Given the description of an element on the screen output the (x, y) to click on. 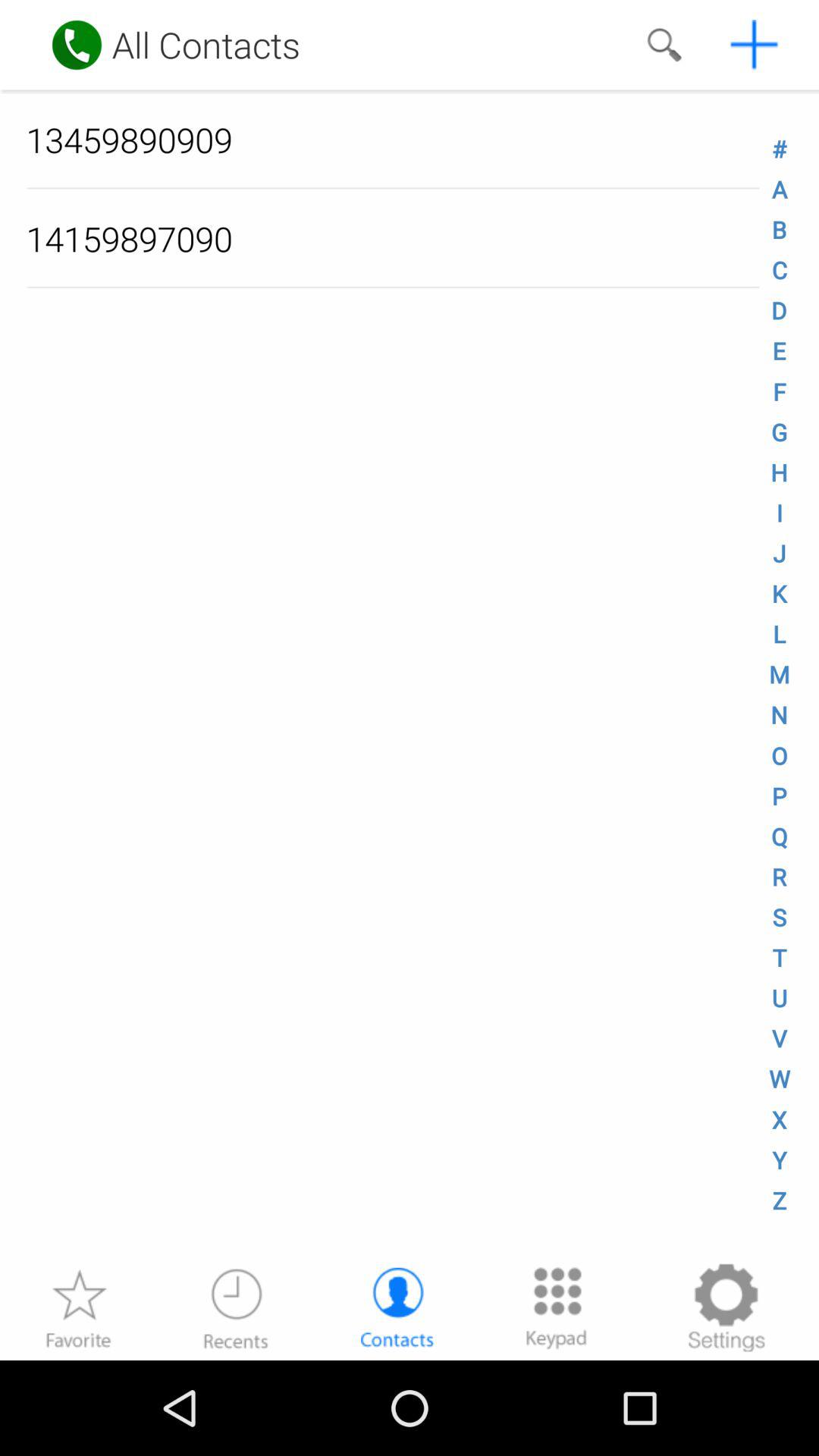
setting button (725, 1307)
